Given the description of an element on the screen output the (x, y) to click on. 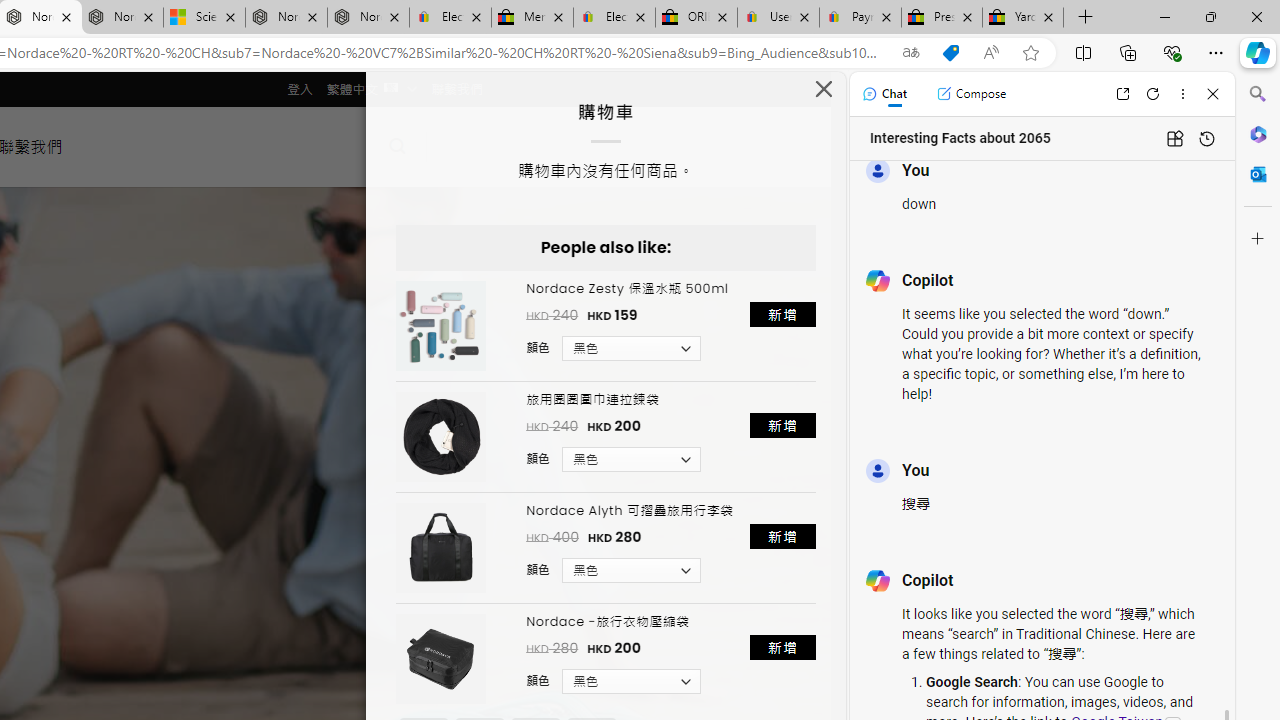
Close (Esc) (824, 93)
 0  (458, 146)
Compose (971, 93)
